Given the description of an element on the screen output the (x, y) to click on. 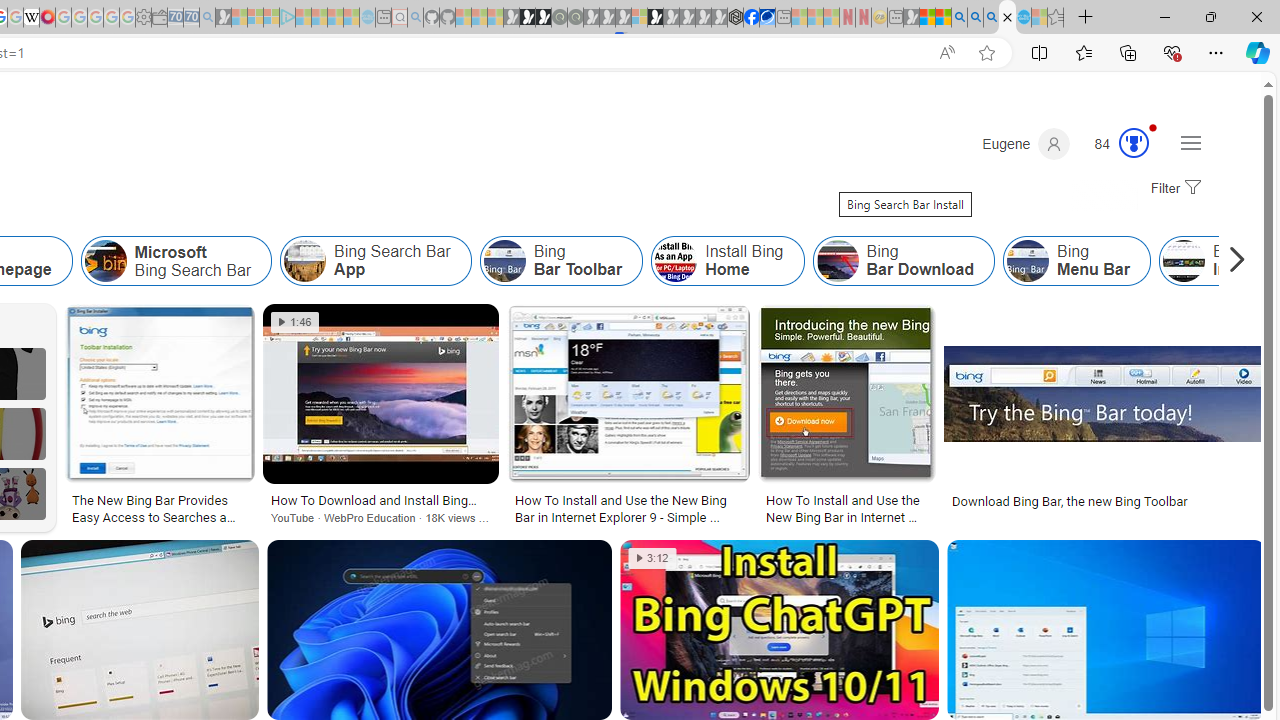
Microsoft Start Gaming - Sleeping (223, 17)
Bing Real Estate - Home sales and rental listings - Sleeping (207, 17)
Bing Bar Download (903, 260)
Nordace | Facebook (751, 17)
Bing Menu Bar (1076, 260)
Image result for Bing Search Bar Install (1106, 630)
Nordace - Cooler Bags (735, 17)
2009 Bing officially replaced Live Search on June 3 - Search (975, 17)
Install Bing Home (676, 260)
